Given the description of an element on the screen output the (x, y) to click on. 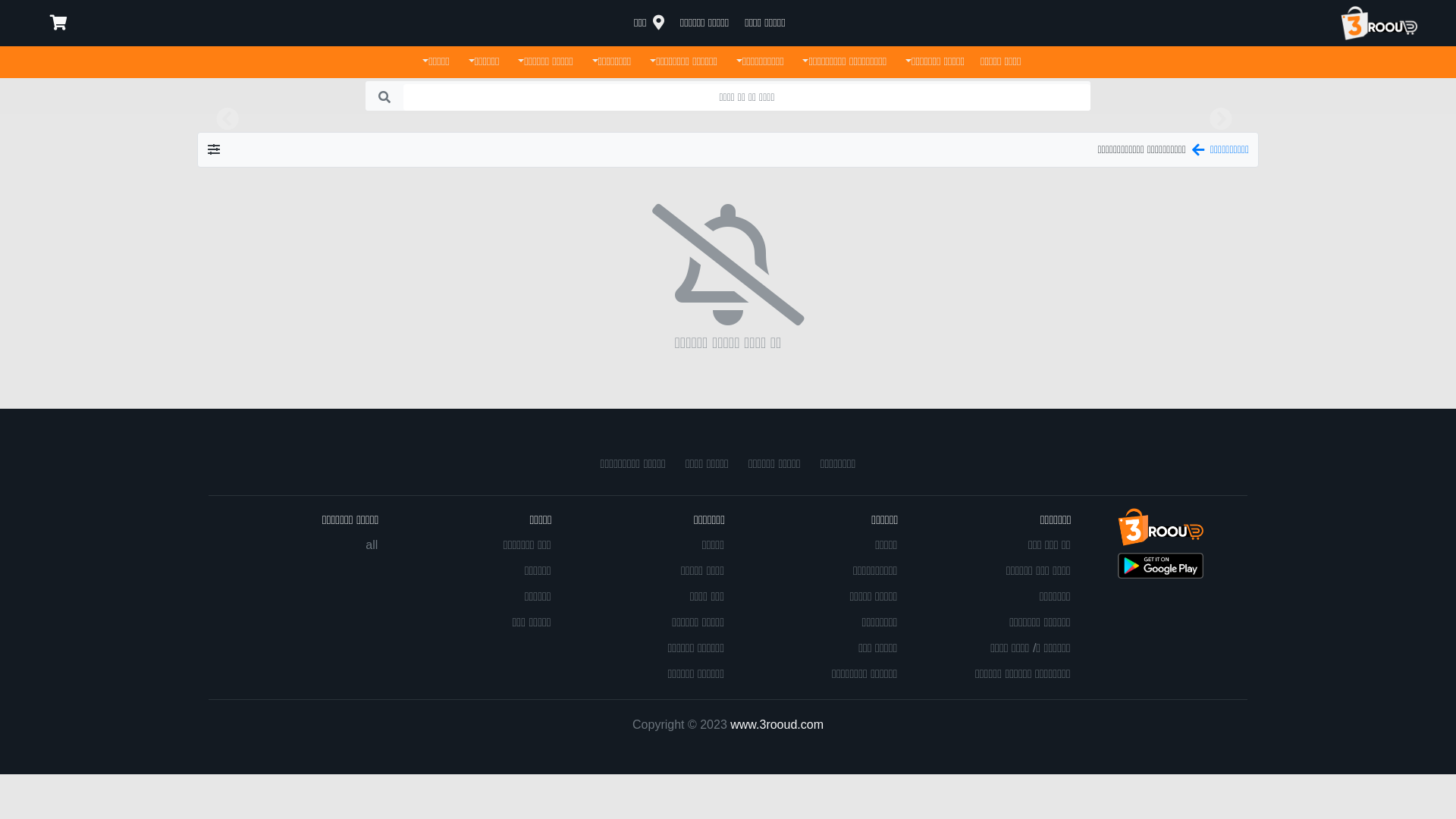
www.3rooud.com Element type: text (776, 723)
